Given the description of an element on the screen output the (x, y) to click on. 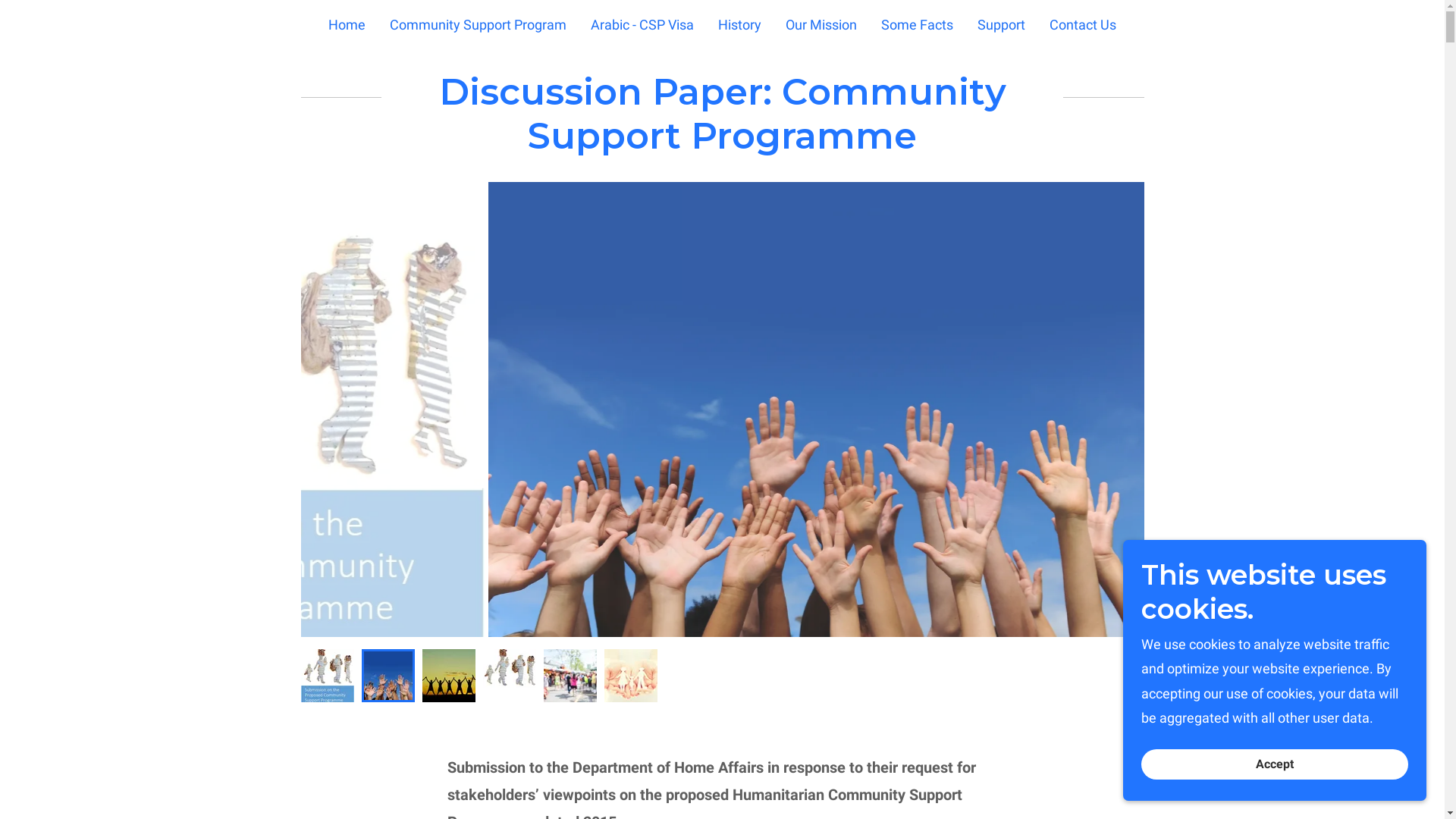
Contact Us Element type: text (1082, 24)
History Element type: text (739, 24)
Community Support Program Element type: text (478, 24)
Support Element type: text (1000, 24)
Home Element type: text (346, 24)
Our Mission Element type: text (821, 24)
Some Facts Element type: text (916, 24)
Arabic - CSP Visa Element type: text (642, 24)
Accept Element type: text (1274, 764)
